Given the description of an element on the screen output the (x, y) to click on. 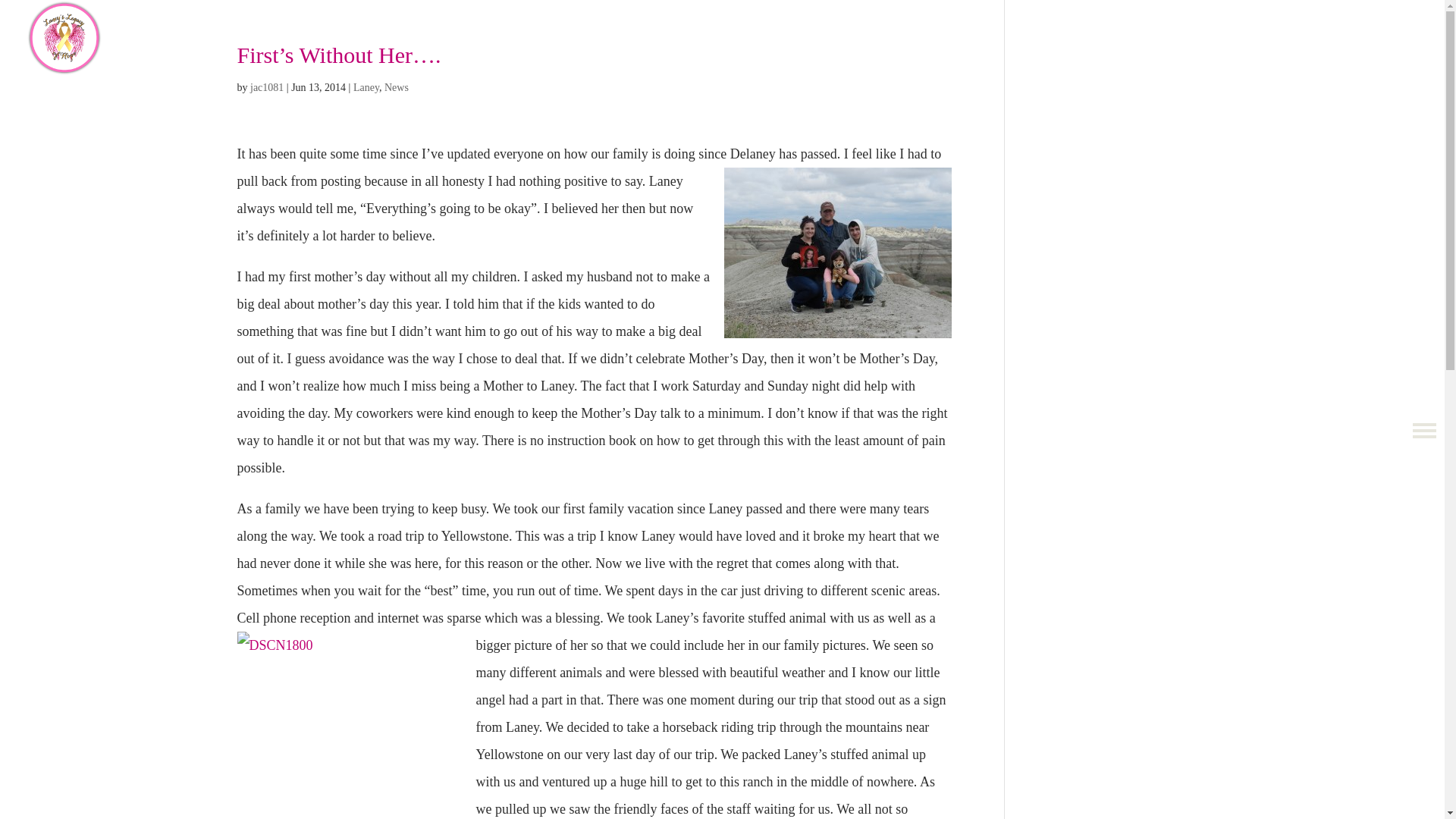
Posts by jac1081 (266, 87)
jac1081 (266, 87)
News (396, 87)
Laney (365, 87)
